Given the description of an element on the screen output the (x, y) to click on. 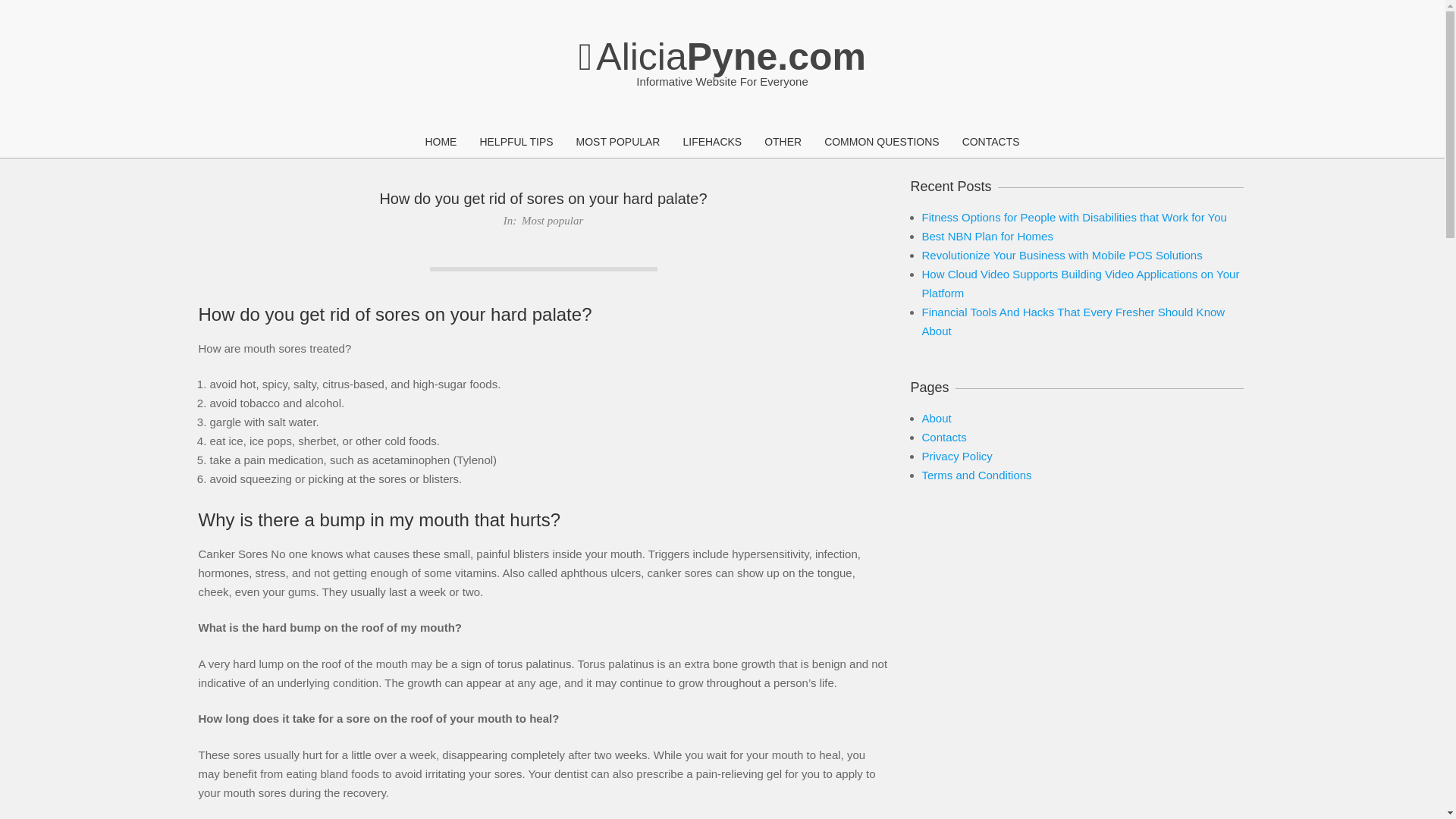
OTHER (782, 142)
COMMON QUESTIONS (881, 142)
HOME (440, 142)
Contacts (943, 436)
HELPFUL TIPS (515, 142)
Best NBN Plan for Homes (986, 236)
Revolutionize Your Business with Mobile POS Solutions (1061, 254)
AliciaPyne.com (722, 56)
